Given the description of an element on the screen output the (x, y) to click on. 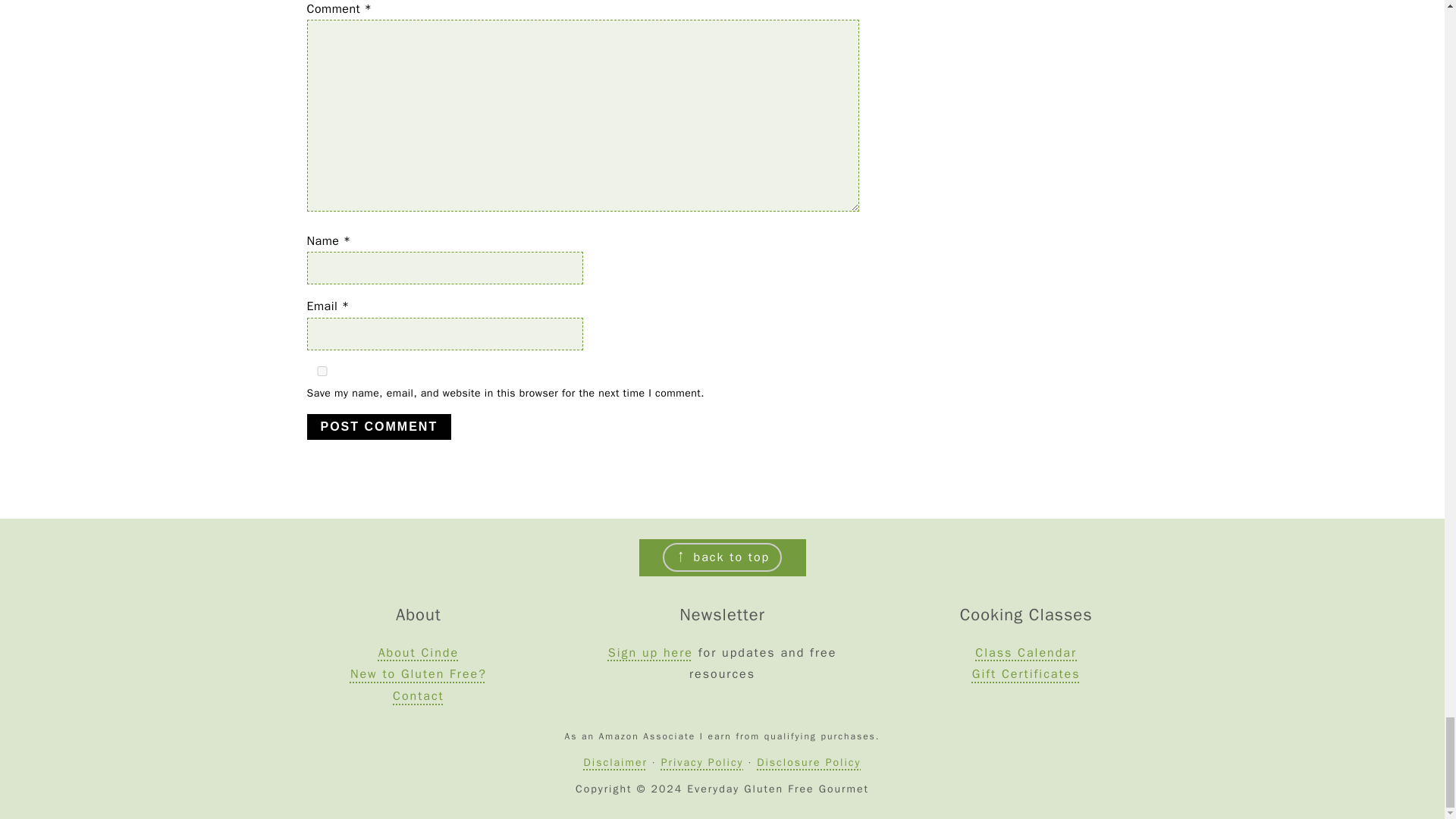
yes (320, 370)
Post Comment (378, 426)
